Given the description of an element on the screen output the (x, y) to click on. 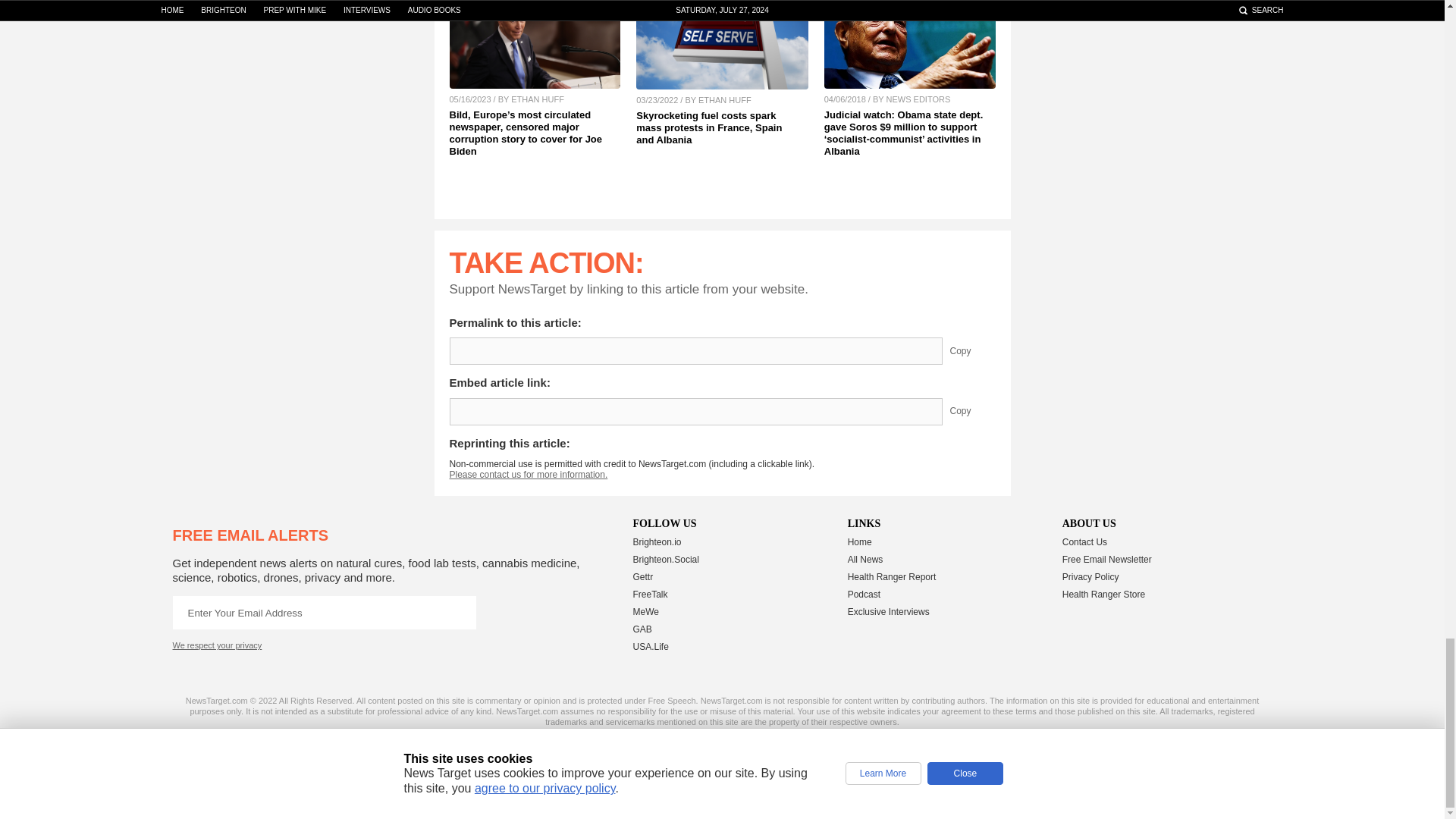
Copy Permalink (971, 350)
Copy Embed Link (971, 411)
Continue (459, 612)
